Given the description of an element on the screen output the (x, y) to click on. 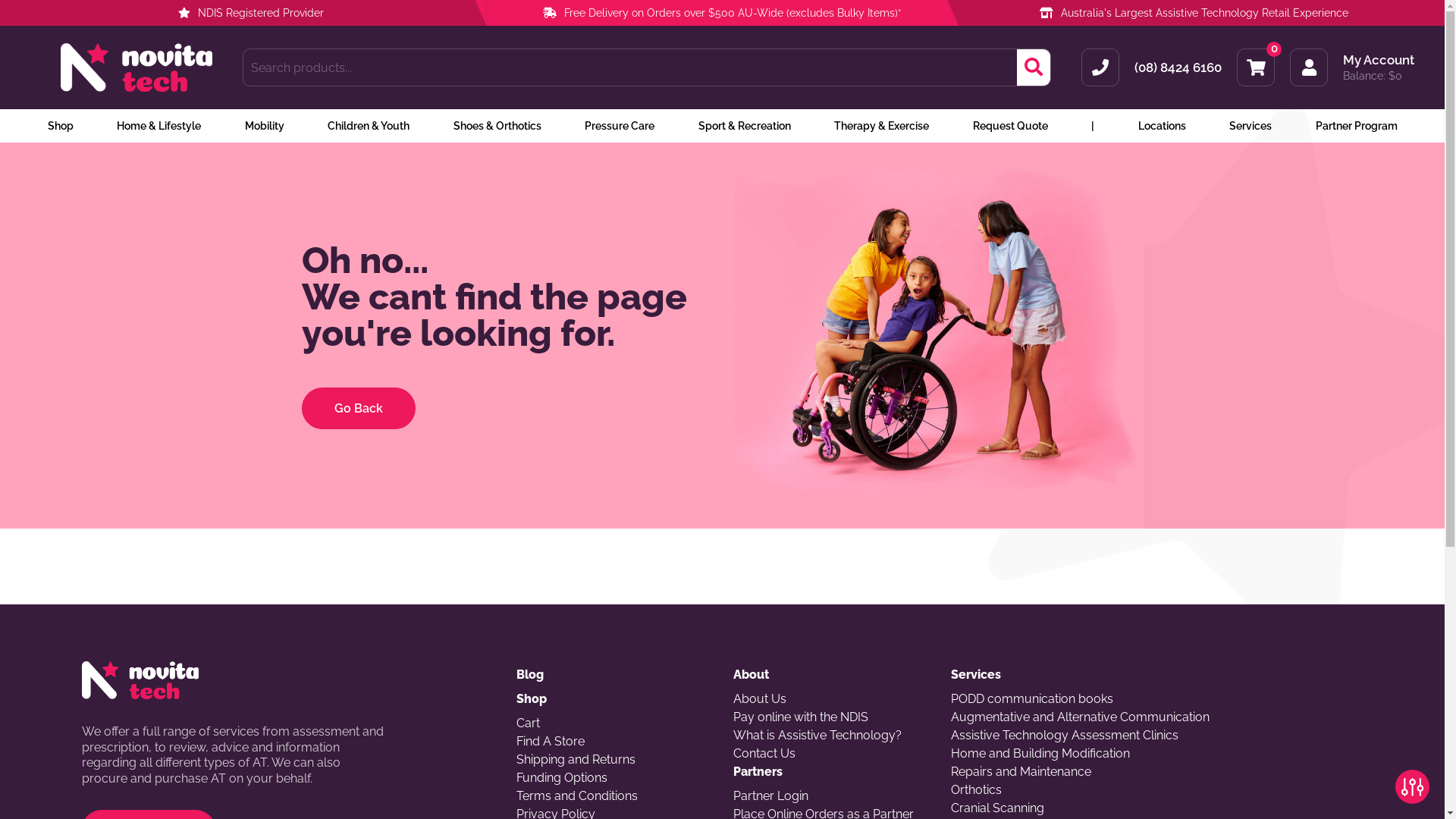
Orthotics Element type: text (1156, 790)
Pay online with the NDIS Element type: text (830, 717)
Funding Options Element type: text (613, 777)
Shoes & Orthotics Element type: text (497, 125)
Cart Element type: text (613, 723)
Services Element type: text (1250, 125)
Go Back Element type: text (358, 408)
Locations Element type: text (1161, 125)
Cranial Scanning Element type: text (1156, 808)
Partner Login Element type: text (830, 796)
Terms and Conditions Element type: text (613, 796)
Sport & Recreation Element type: text (743, 125)
Therapy & Exercise Element type: text (881, 125)
Children & Youth Element type: text (368, 125)
Balance: $0 Element type: text (1378, 75)
| Element type: text (1092, 125)
Shop Element type: text (613, 699)
About Element type: text (830, 674)
Partners Element type: text (830, 771)
Shop Element type: text (59, 125)
My Account Element type: text (1378, 59)
Find A Store Element type: text (613, 741)
Partner Program Element type: text (1355, 125)
Contact Us Element type: text (830, 753)
Blog Element type: text (613, 674)
Shipping and Returns Element type: text (613, 759)
0 Element type: text (1255, 67)
Mobility Element type: text (263, 125)
Request Quote Element type: text (1009, 125)
Repairs and Maintenance Element type: text (1156, 771)
(08) 8424 6160 Element type: text (1177, 66)
Services Element type: text (1156, 674)
What is Assistive Technology? Element type: text (830, 735)
Home and Building Modification Element type: text (1156, 753)
Assistive Technology Assessment Clinics Element type: text (1156, 735)
PODD communication books Element type: text (1156, 699)
Pressure Care Element type: text (619, 125)
About Us Element type: text (830, 699)
Augmentative and Alternative Communication Element type: text (1156, 717)
Home & Lifestyle Element type: text (158, 125)
